Given the description of an element on the screen output the (x, y) to click on. 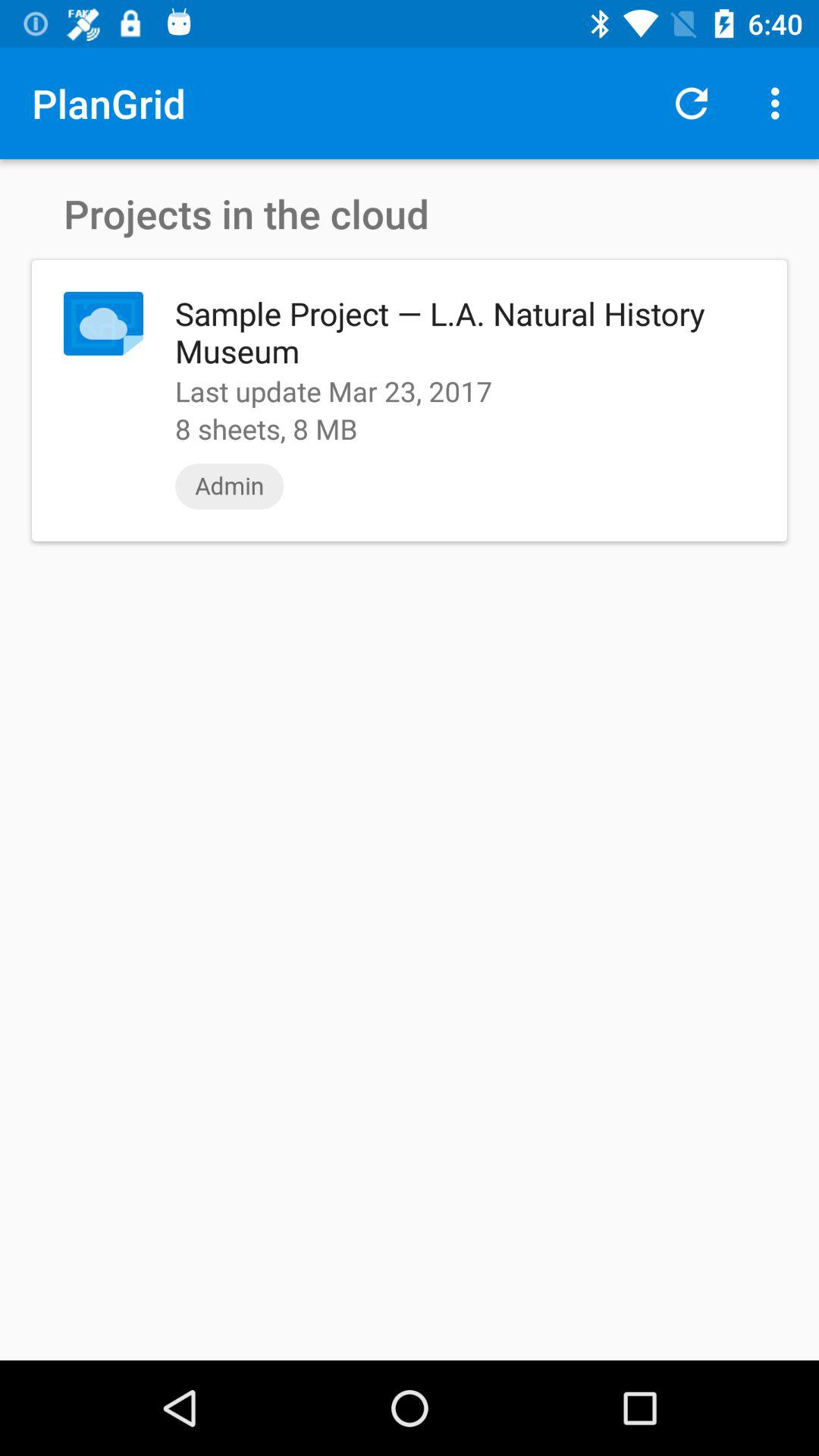
launch the icon to the right of the plangrid item (691, 103)
